Given the description of an element on the screen output the (x, y) to click on. 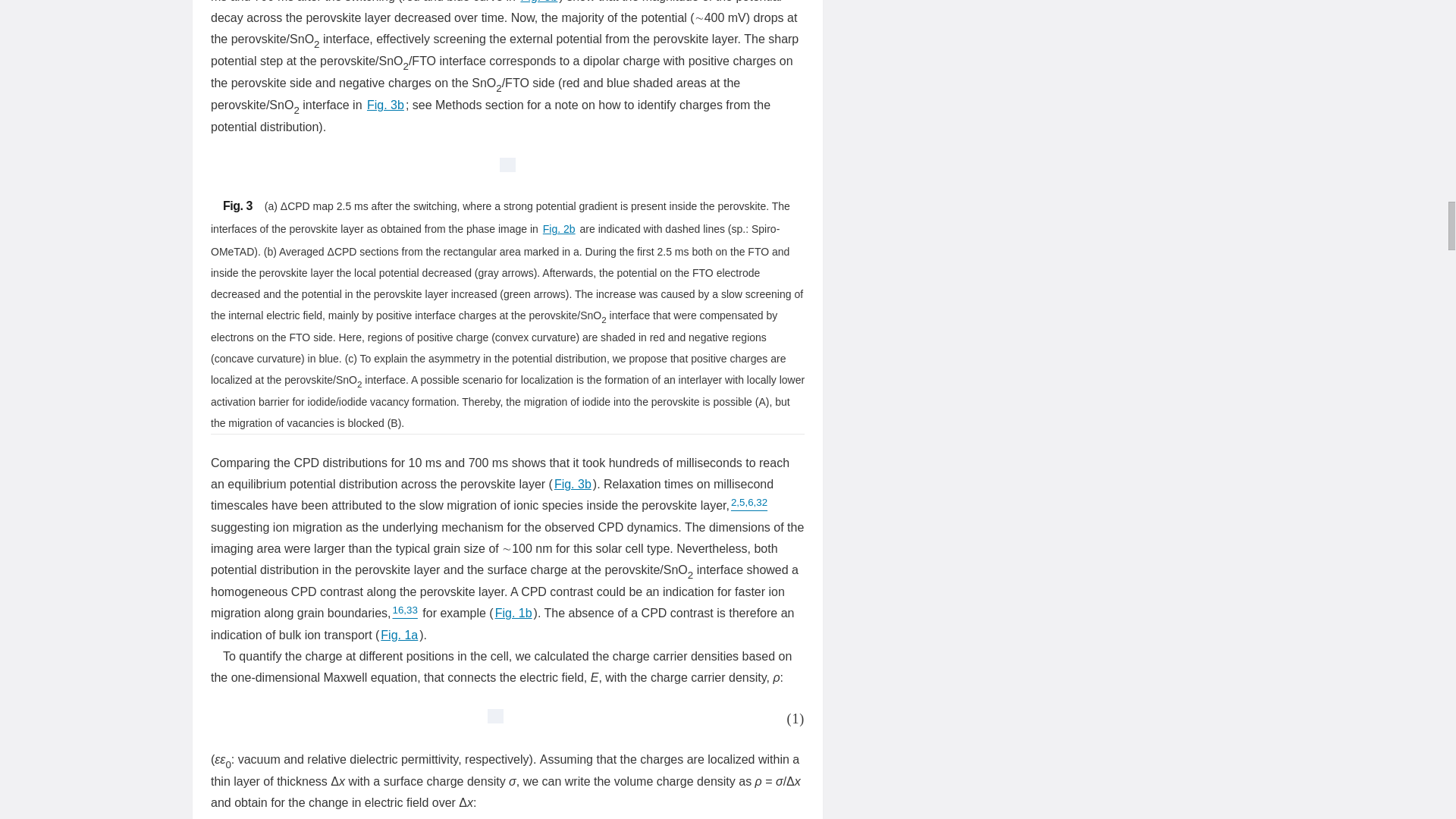
Select to open image in new window (489, 718)
